Given the description of an element on the screen output the (x, y) to click on. 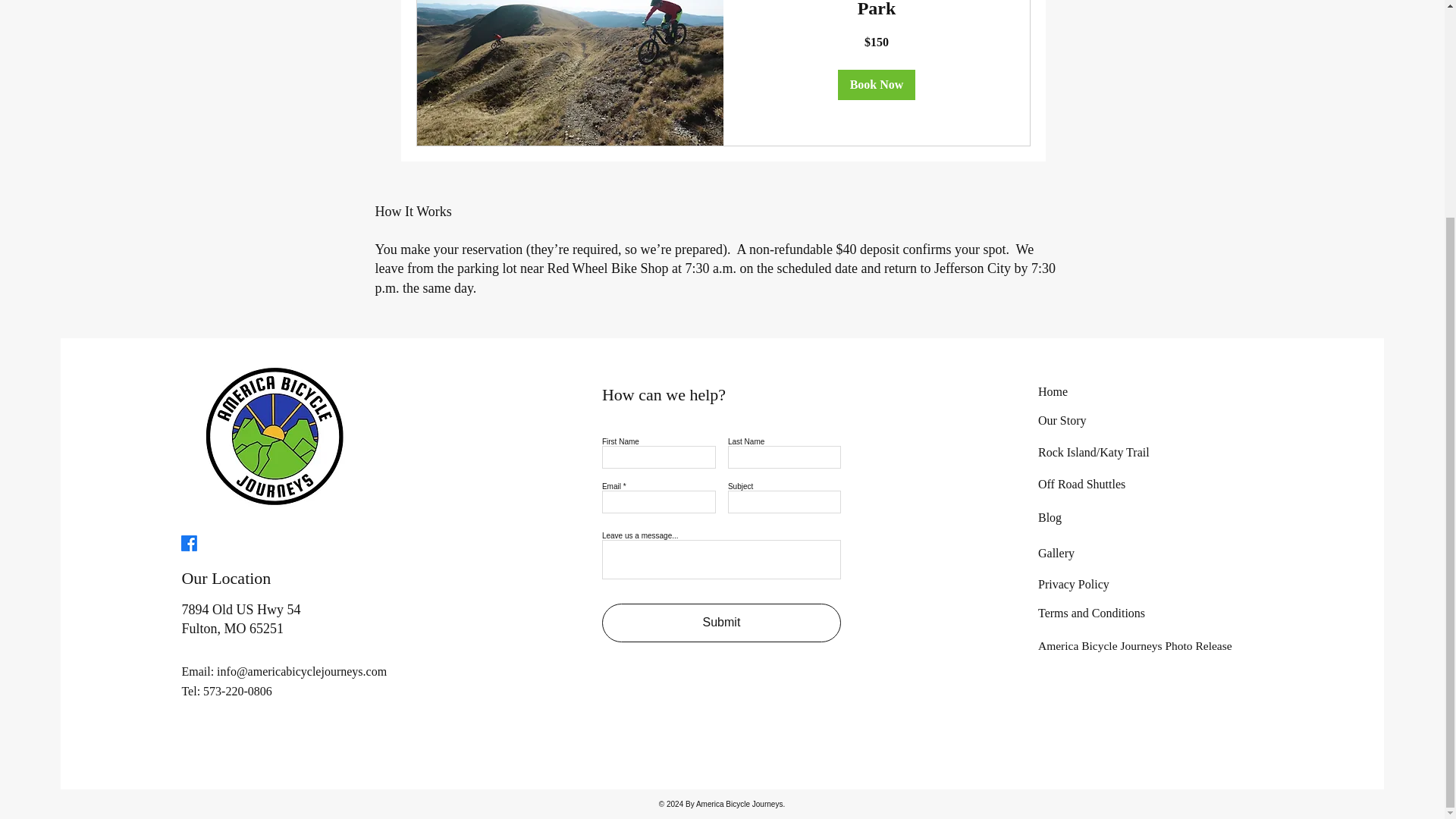
Blog (1049, 517)
Home (1052, 391)
Gallery (1056, 553)
Our Story (1062, 420)
573-220-0806 (237, 690)
Submit (721, 622)
Privacy Policy (1073, 584)
Off Road Shuttles (1081, 483)
Book Now (876, 84)
Two Rivers Mountain Bike Park (876, 10)
